Given the description of an element on the screen output the (x, y) to click on. 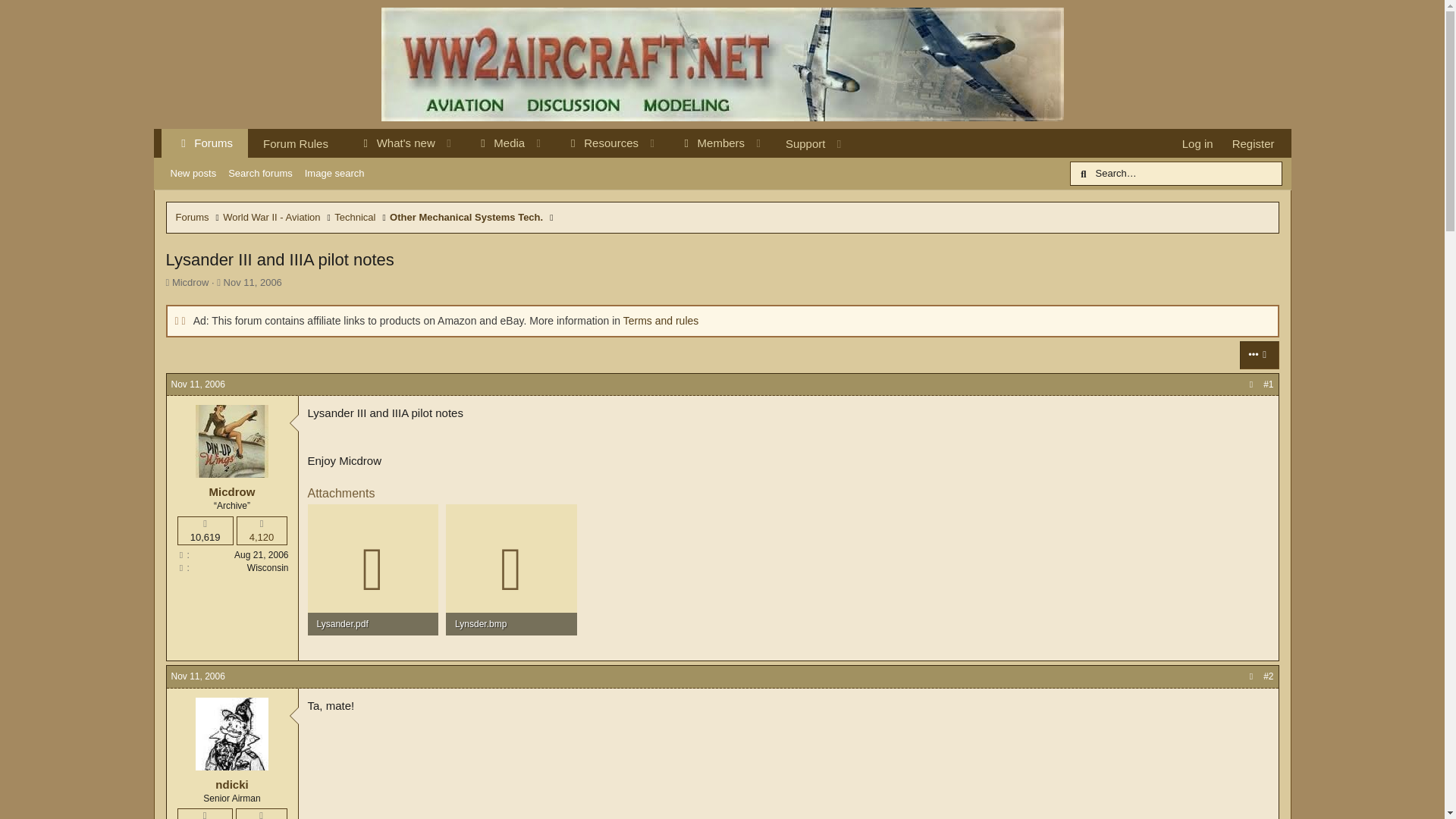
Joined (181, 554)
Nov 11, 2006 at 12:01 AM (198, 384)
More options (1259, 354)
Log in (1198, 142)
Lysander.pdf (373, 623)
Media (494, 143)
Nov 11, 2006 at 12:01 AM (253, 282)
